Given the description of an element on the screen output the (x, y) to click on. 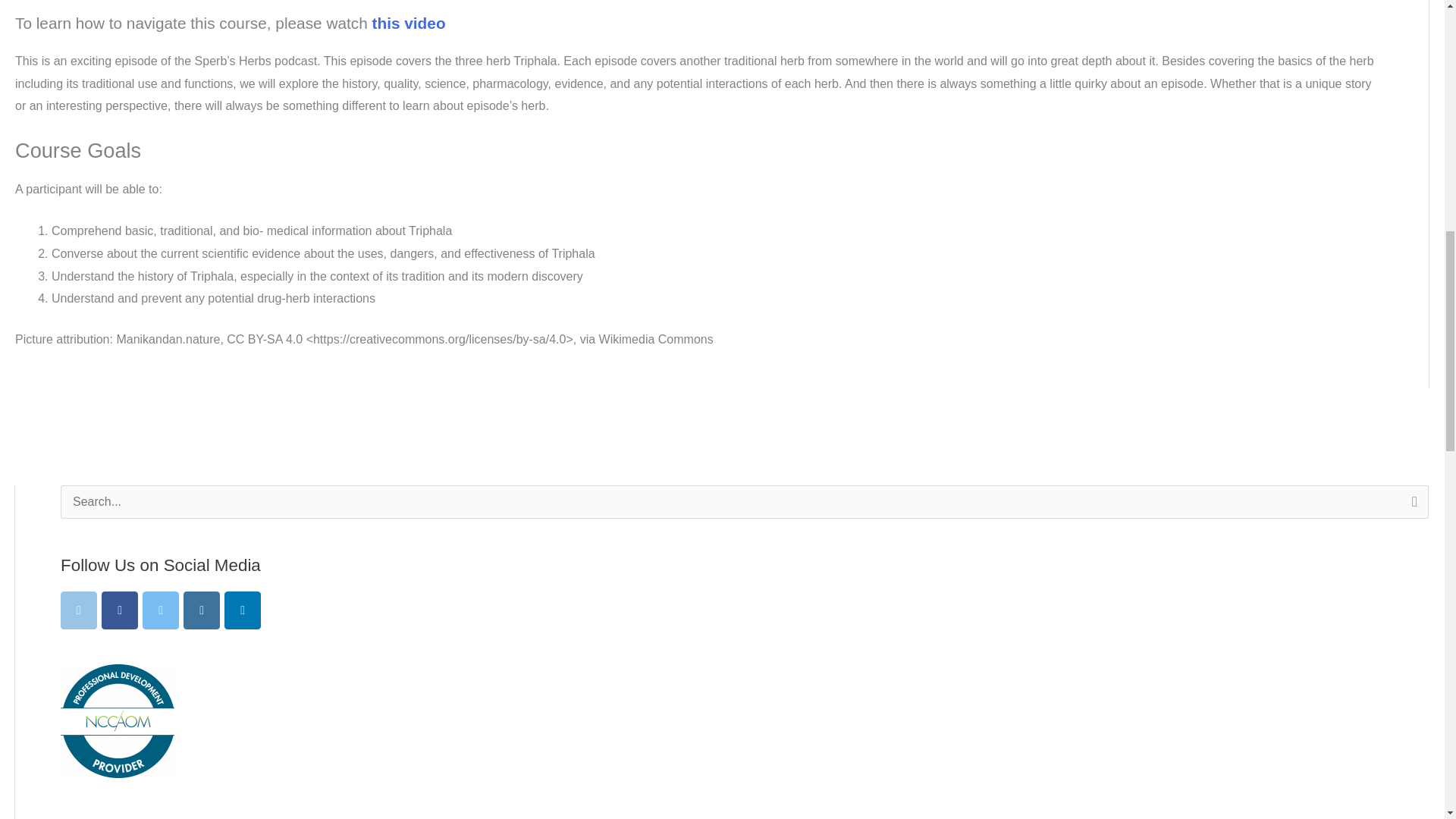
Integrative Medicine Council on Instagram (201, 610)
Twitter (160, 610)
this video (408, 22)
Email (79, 610)
Facebook (119, 610)
Integrative Medicine Council on Linkedin (242, 610)
